Given the description of an element on the screen output the (x, y) to click on. 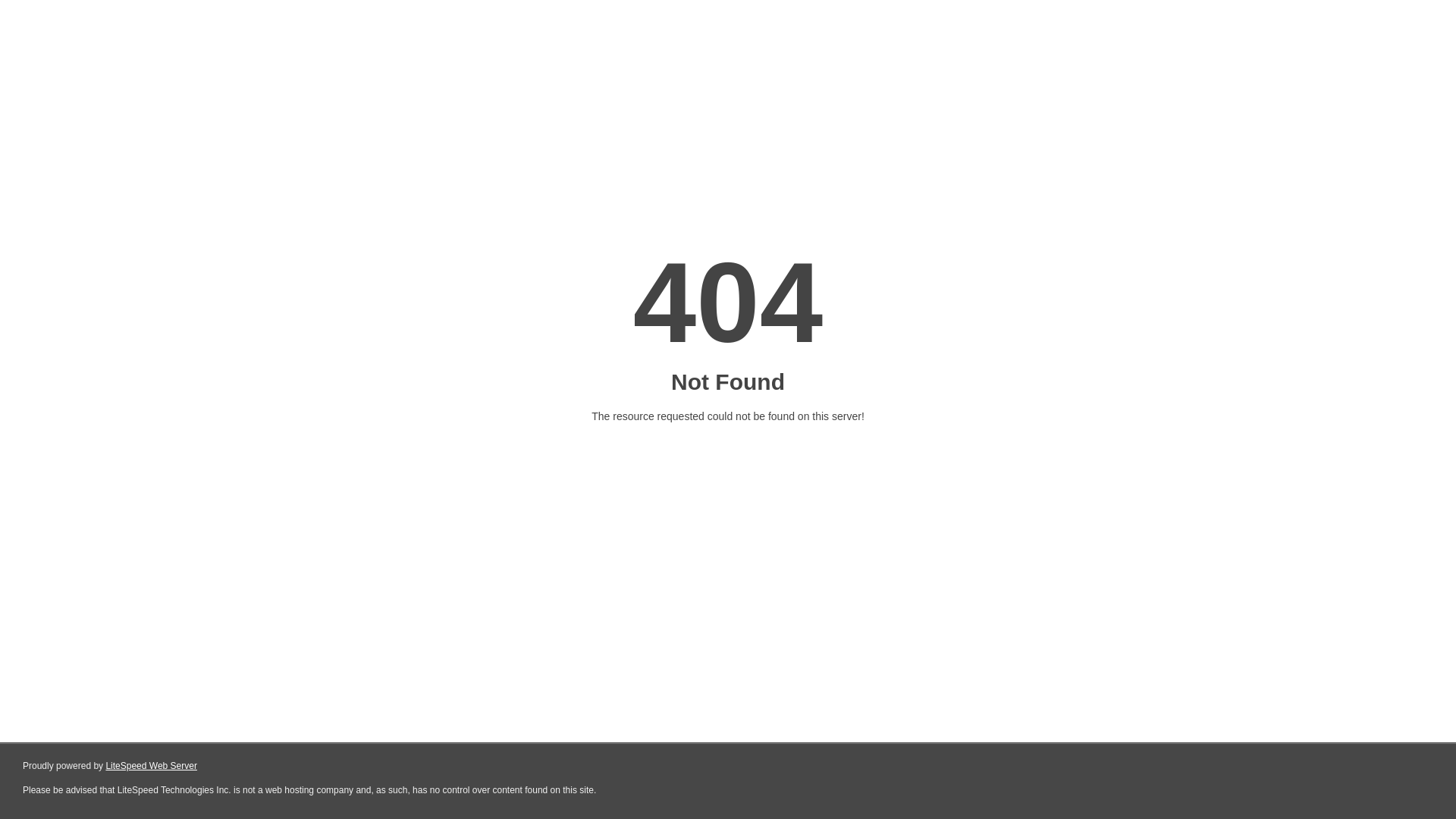
LiteSpeed Web Server Element type: text (151, 765)
